Given the description of an element on the screen output the (x, y) to click on. 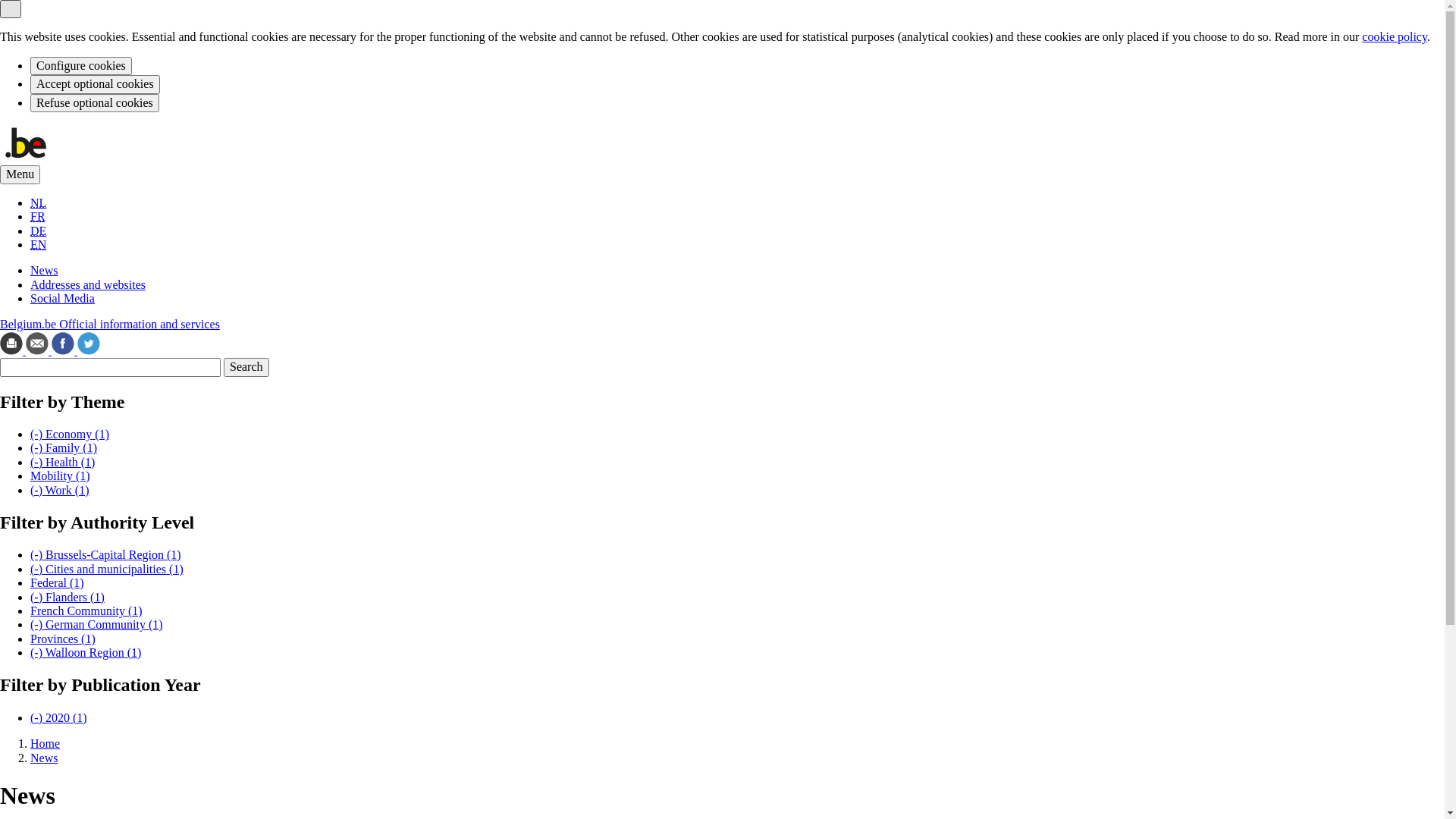
Refuse optional cookies Element type: text (94, 103)
DE Element type: text (38, 230)
(-) Cities and municipalities (1) Element type: text (106, 568)
Belgium.be Official information and services Element type: text (109, 323)
(-) Economy (1) Element type: text (69, 433)
(-) Walloon Region (1) Element type: text (85, 652)
FR Element type: text (37, 216)
(-) Health (1) Element type: text (62, 461)
Close Element type: text (10, 9)
(-) Family (1) Element type: text (63, 447)
Configure cookies Element type: text (80, 65)
Accept optional cookies Element type: text (95, 84)
Addresses and websites Element type: text (87, 284)
NL Element type: text (38, 202)
(-) Brussels-Capital Region (1) Element type: text (105, 554)
Federal (1) Element type: text (57, 582)
Home Element type: text (44, 743)
cookie policy Element type: text (1394, 36)
Search Element type: text (246, 366)
News Element type: text (43, 269)
Skip to main content Element type: text (0, 124)
Social Media Element type: text (62, 297)
Mobility (1) Element type: text (60, 475)
(-) Flanders (1) Element type: text (67, 596)
(-) 2020 (1) Element type: text (58, 717)
French Community (1) Element type: text (86, 610)
News Element type: text (43, 757)
(-) German Community (1) Element type: text (96, 624)
Provinces (1) Element type: text (62, 638)
(-) Work (1) Element type: text (59, 489)
Menu Element type: text (20, 174)
Back to the Belgium.be homepage Element type: hover (25, 157)
EN Element type: text (38, 244)
